Given the description of an element on the screen output the (x, y) to click on. 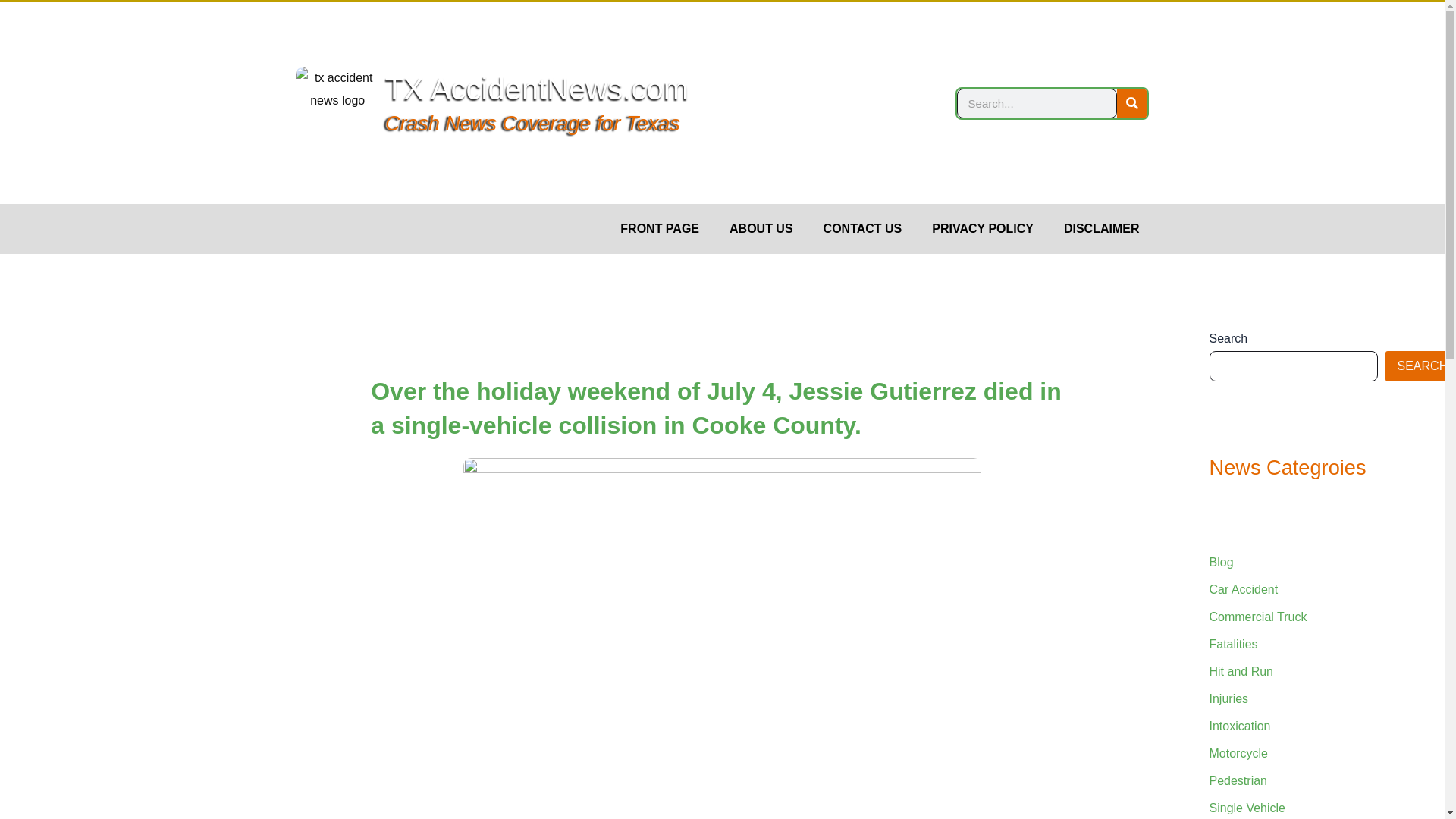
FRONT PAGE (659, 228)
TX AccidentNews.com (536, 88)
DISCLAIMER (1101, 228)
ABOUT US (761, 228)
CONTACT US (862, 228)
PRIVACY POLICY (982, 228)
